Given the description of an element on the screen output the (x, y) to click on. 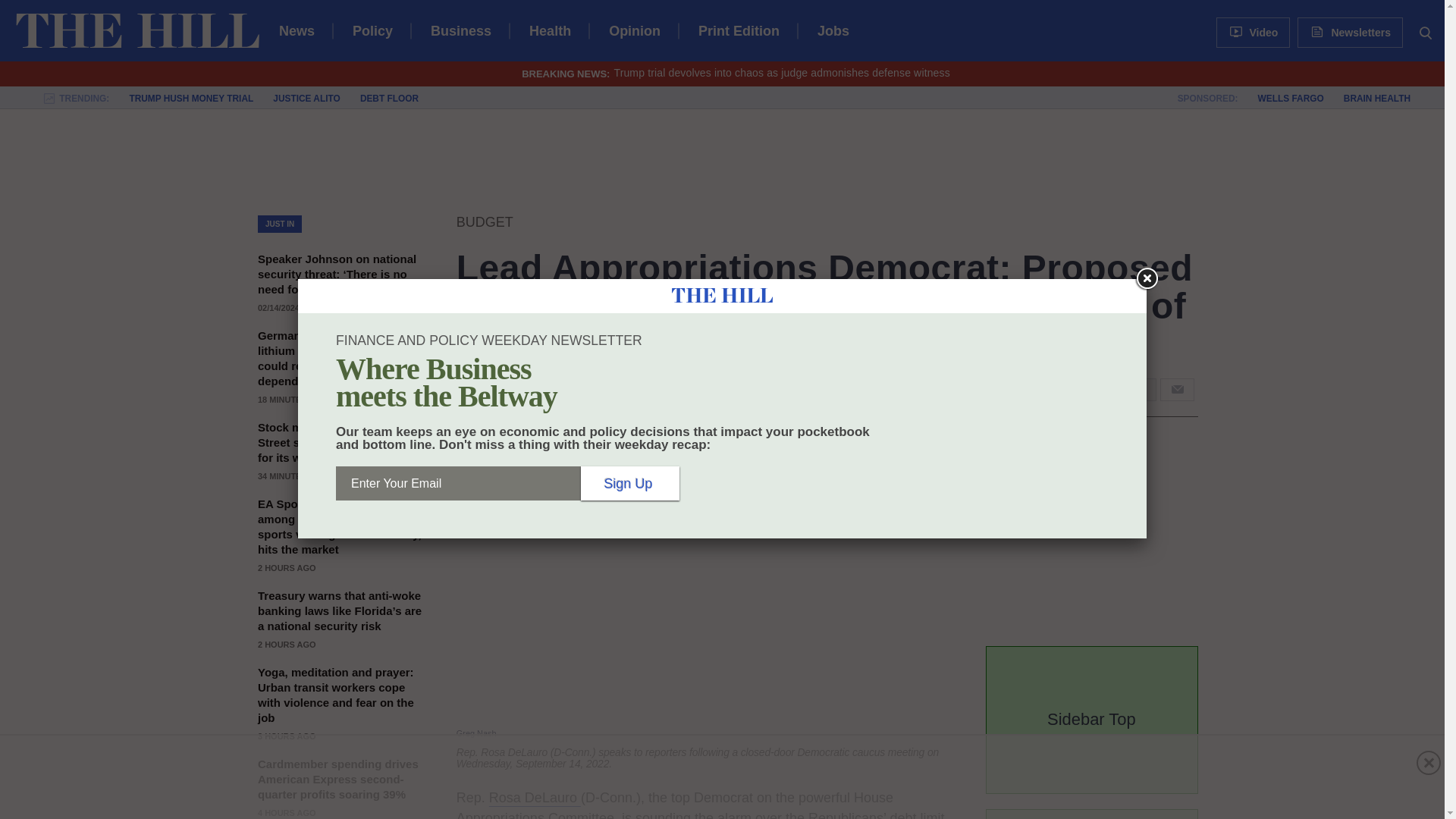
News (296, 30)
Budget (485, 222)
3rd party ad content (727, 776)
Close (1146, 278)
3rd party ad content (1098, 538)
3rd party ad content (727, 159)
Search (1425, 31)
Sign Up  (629, 483)
Policy (372, 30)
